Given the description of an element on the screen output the (x, y) to click on. 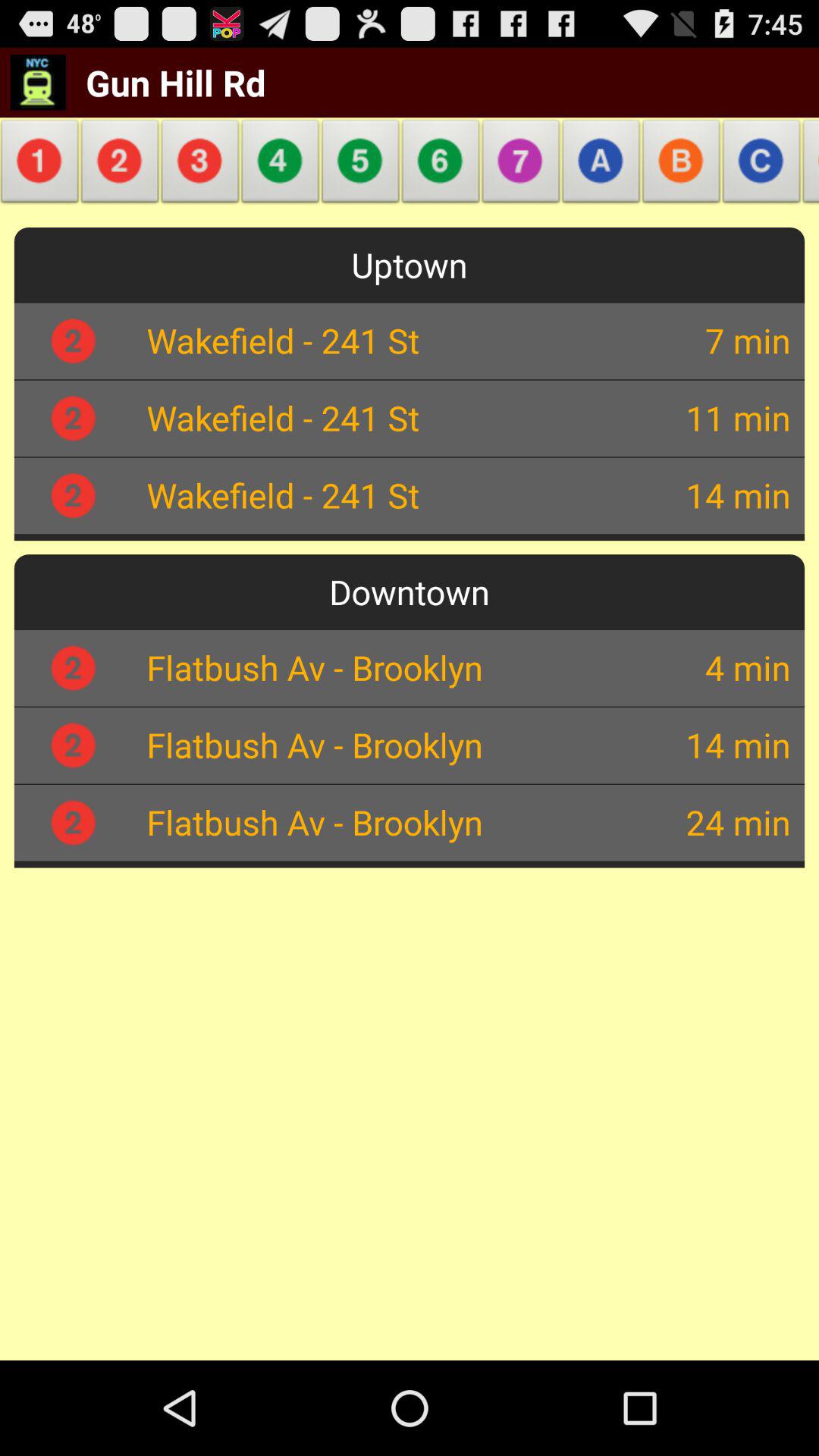
choose item above uptown (120, 165)
